Given the description of an element on the screen output the (x, y) to click on. 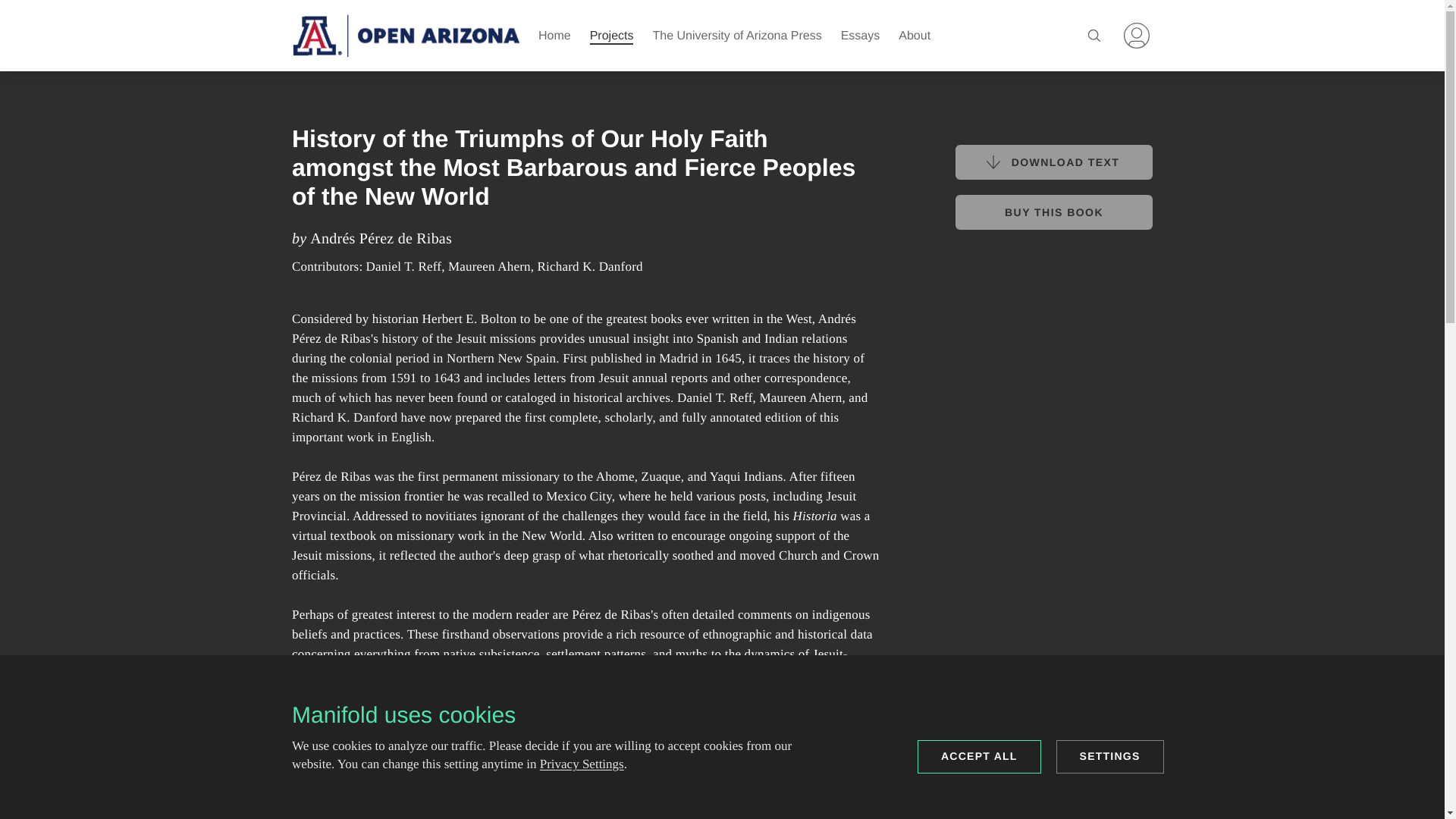
READ ONLINE (368, 807)
The University of Arizona Press (736, 35)
Return to home (405, 35)
BUY THIS BOOK (1054, 212)
Home (554, 35)
Projects (1137, 35)
Essays (611, 35)
DOWNLOAD TEXT (860, 35)
About (1054, 161)
